Given the description of an element on the screen output the (x, y) to click on. 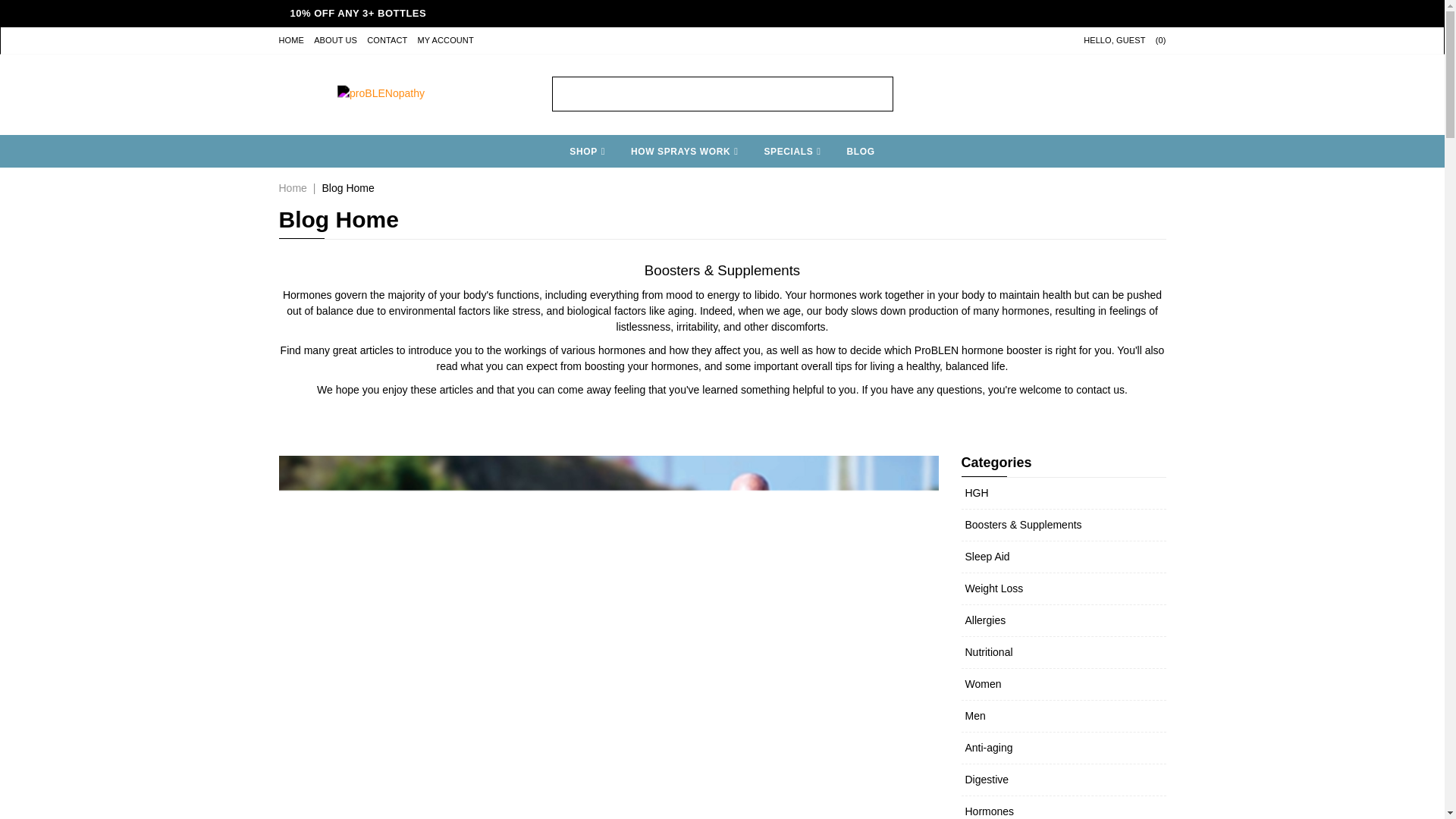
SHOP (586, 151)
proBLENopathy (381, 73)
BLOG (860, 151)
MY ACCOUNT (445, 40)
CONTACT (386, 40)
HOW SPRAYS WORK (684, 151)
HELLO, GUEST (1113, 40)
home (381, 73)
HOME (291, 40)
ABOUT US (335, 40)
